Given the description of an element on the screen output the (x, y) to click on. 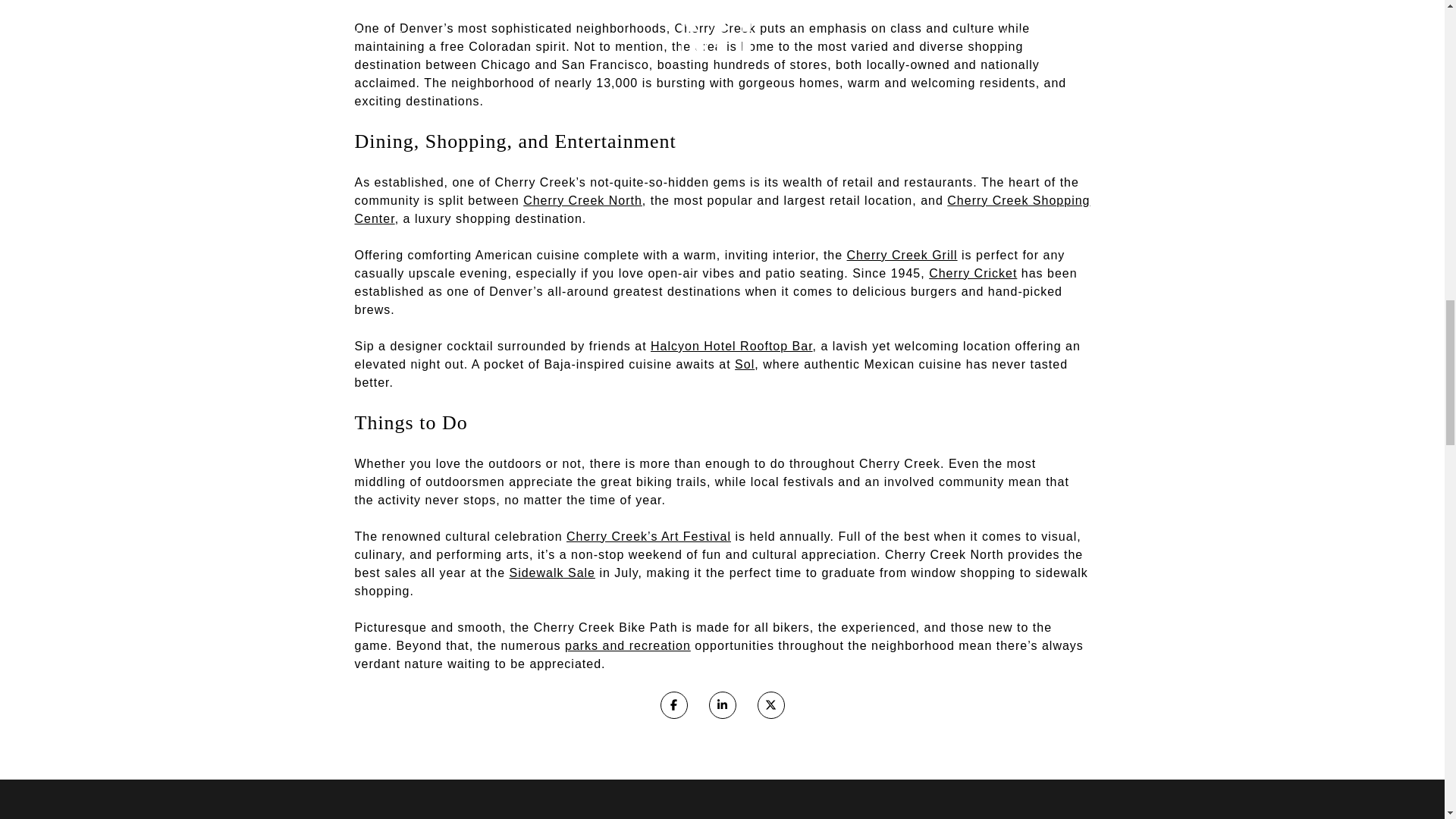
Cherry Creek North (582, 200)
Cherry Creek Grill (902, 254)
Cherry Cricket (972, 273)
Halcyon Hotel Rooftop Bar (731, 345)
Sol (744, 364)
Cherry Creek Shopping Center (722, 209)
